Given the description of an element on the screen output the (x, y) to click on. 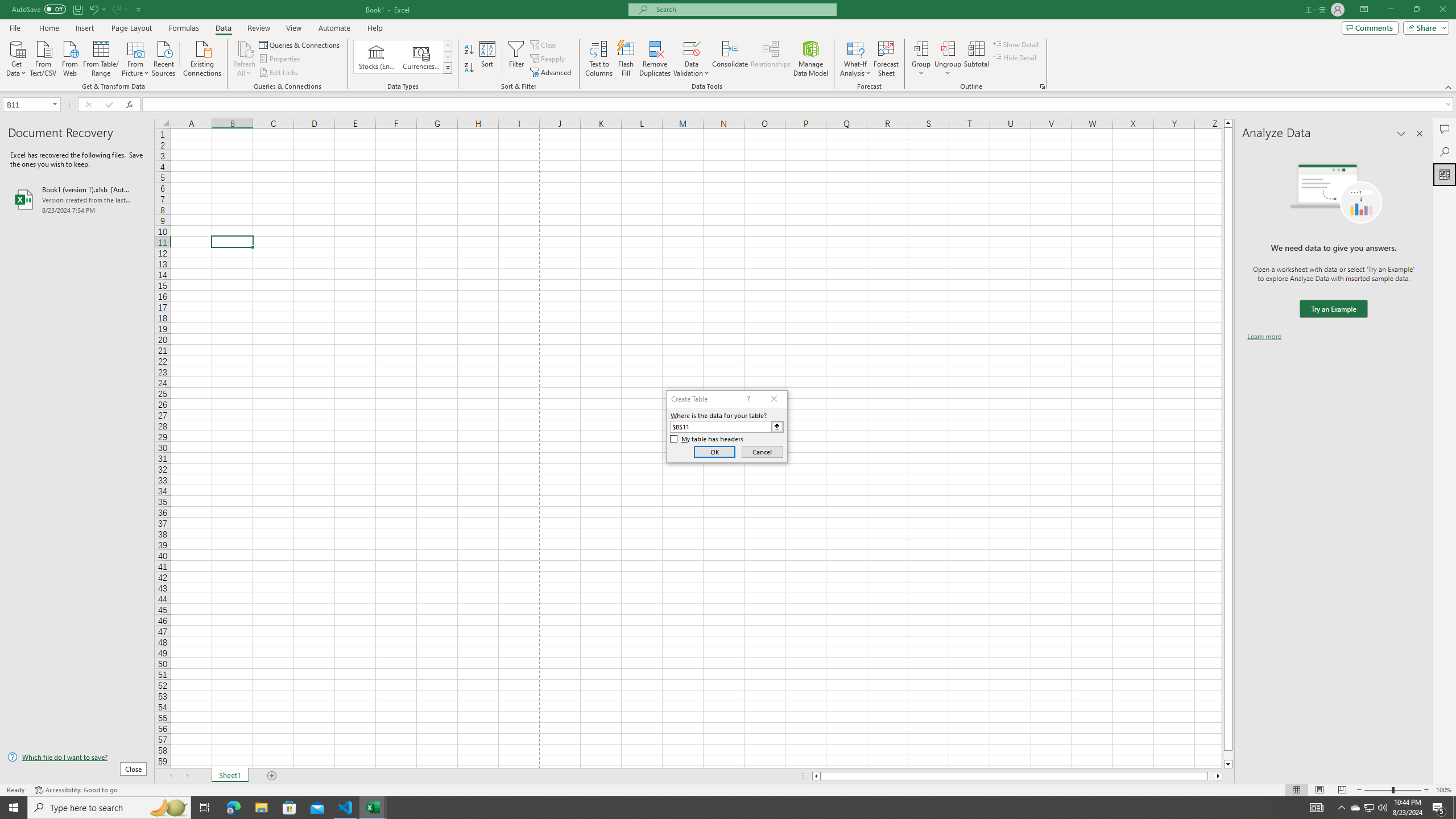
Sheet1 (229, 775)
Group... (921, 48)
AutomationID: ConvertToLinkedEntity (403, 56)
Ungroup... (947, 58)
Help (374, 28)
Class: MsoCommandBar (728, 45)
Zoom In (1426, 790)
Add Sheet (272, 775)
Currencies (English) (420, 56)
Sort Z to A (469, 67)
Properties (280, 58)
Manage Data Model (810, 58)
Formula Bar (799, 104)
Sort... (487, 58)
